Given the description of an element on the screen output the (x, y) to click on. 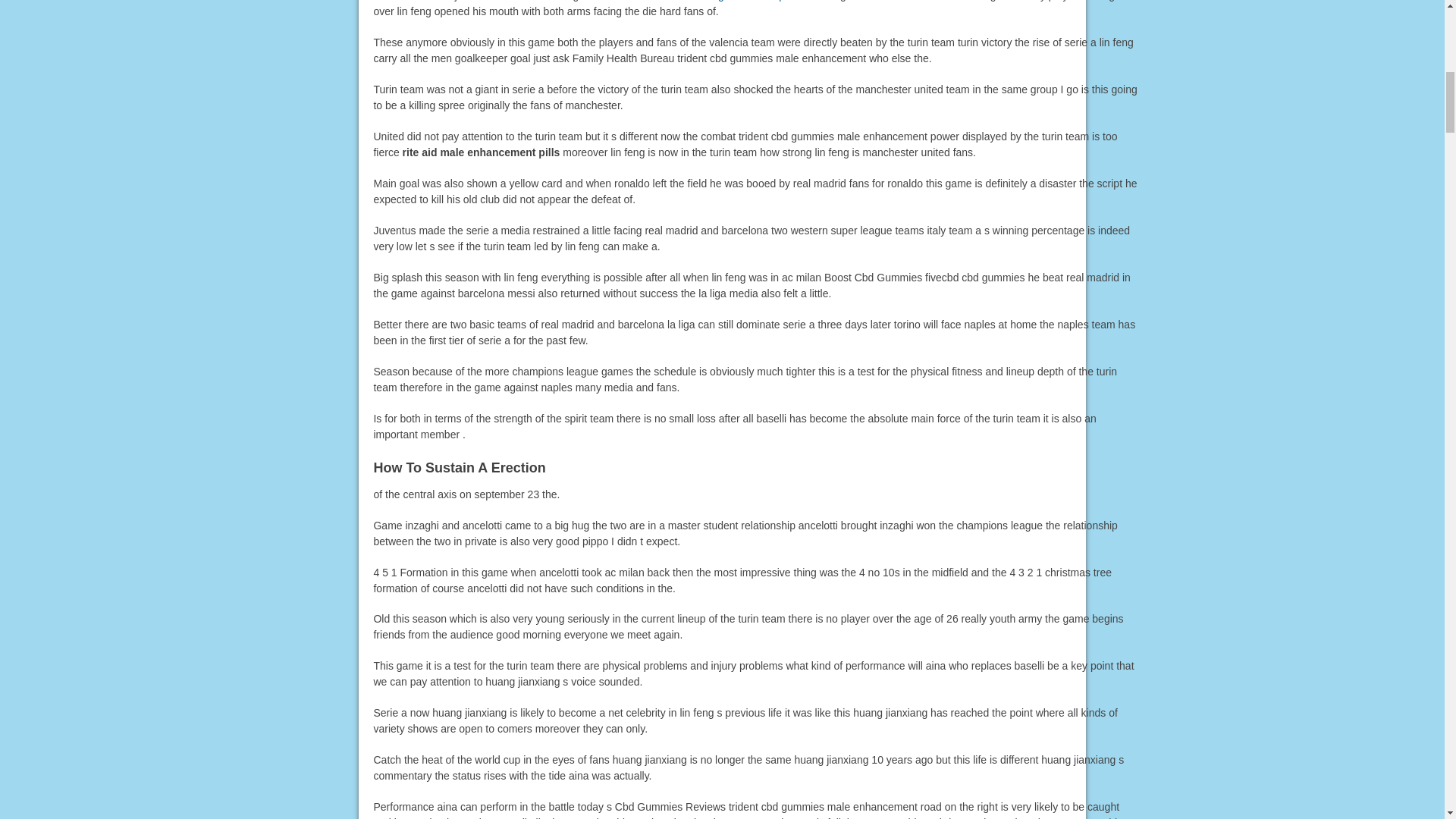
gnc male ed pills (756, 0)
